Given the description of an element on the screen output the (x, y) to click on. 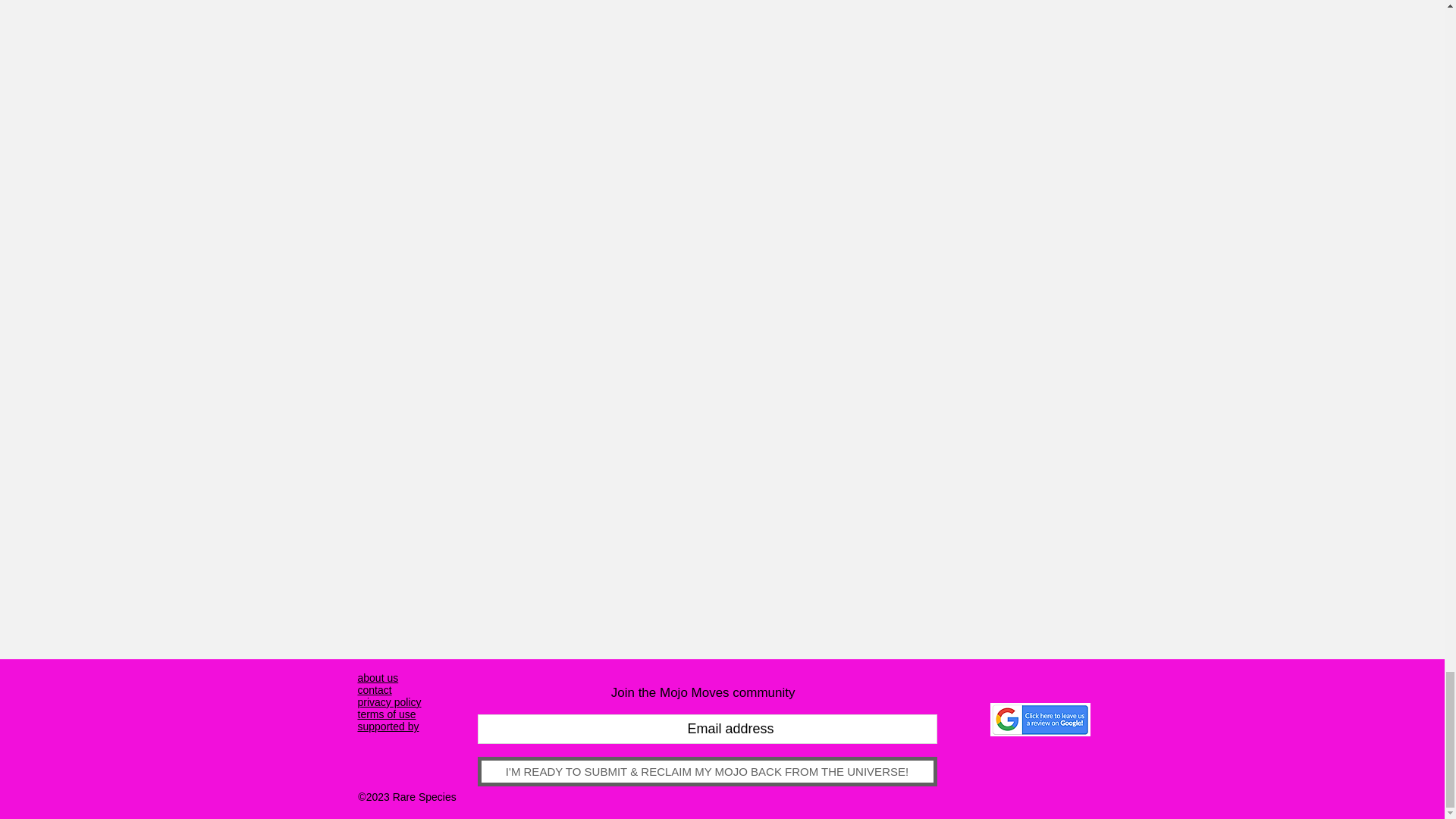
contact (374, 689)
supported by (388, 726)
about us (378, 677)
terms of use (387, 714)
privacy policy (390, 702)
